Given the description of an element on the screen output the (x, y) to click on. 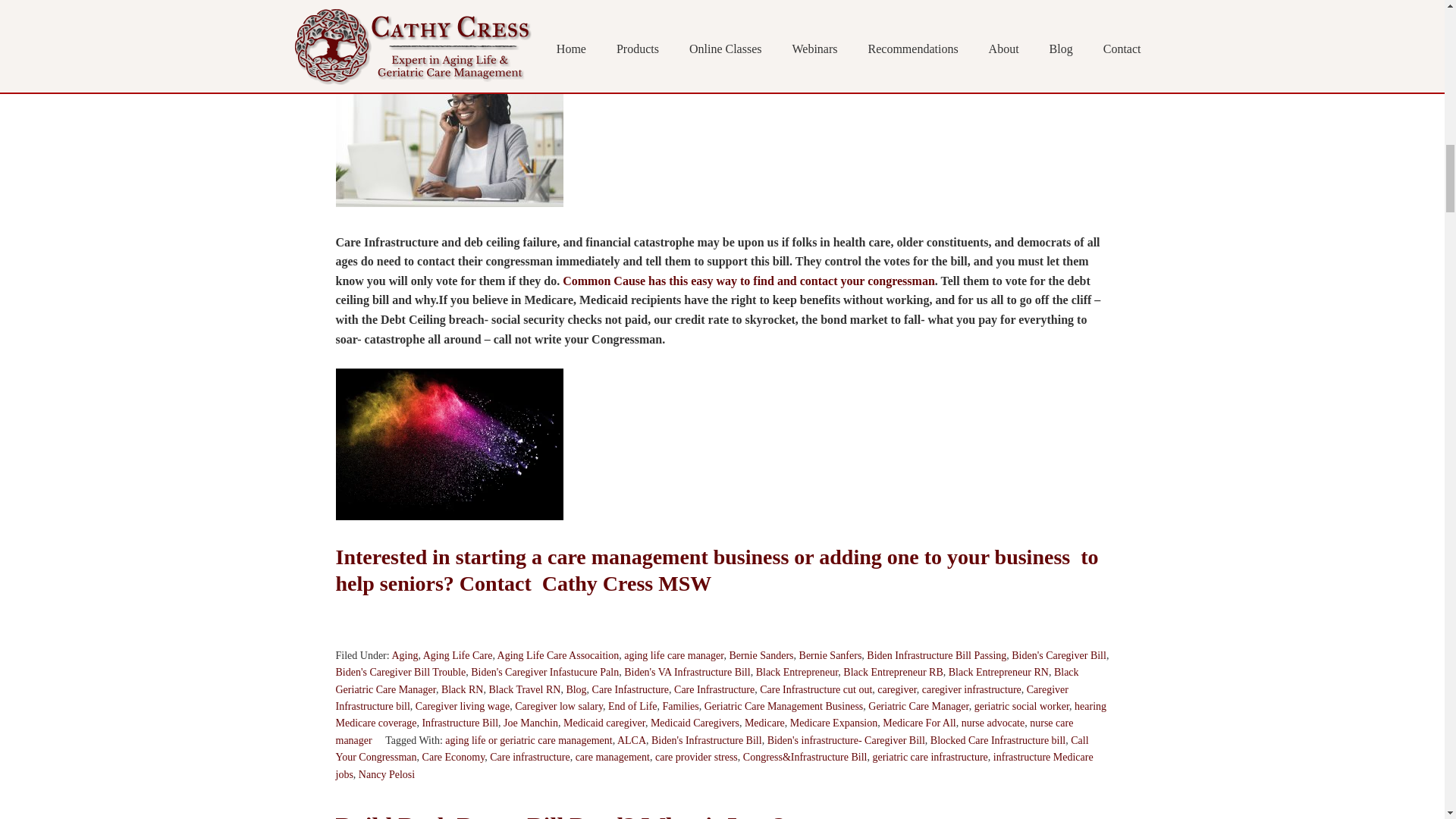
Aging Life Care (458, 655)
Aging (404, 655)
easy way to find and contact your congressman (714, 6)
Bernie Sanders (761, 655)
aging life care manager (673, 655)
Bernie Sanfers (830, 655)
Aging Life Care Assocaition (558, 655)
